Given the description of an element on the screen output the (x, y) to click on. 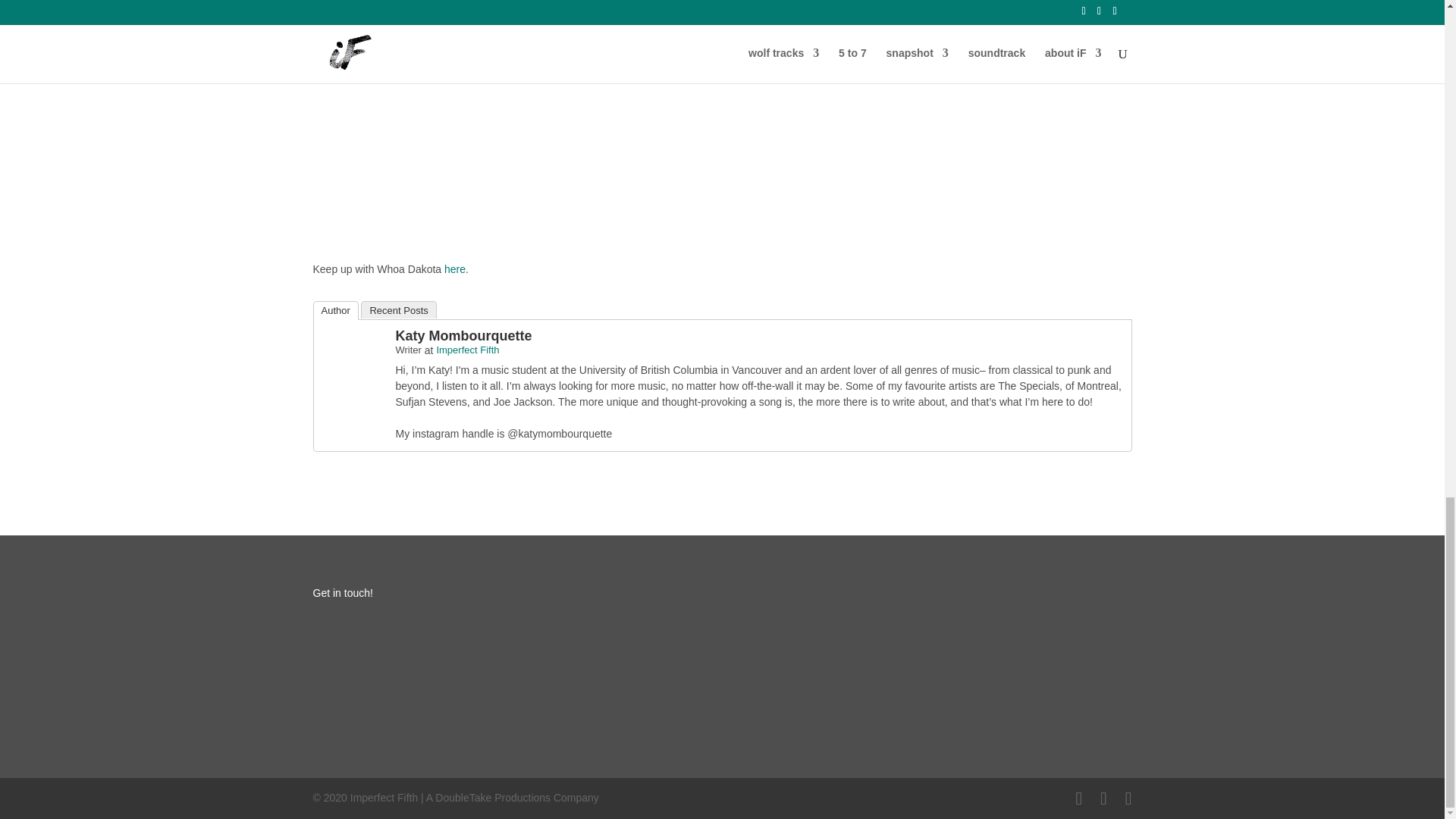
Imperfect Fifth (467, 349)
Author (335, 310)
Katy Mombourquette (353, 379)
Get in touch! (342, 592)
here (454, 268)
Recent Posts (398, 309)
Katy Mombourquette (464, 335)
